Given the description of an element on the screen output the (x, y) to click on. 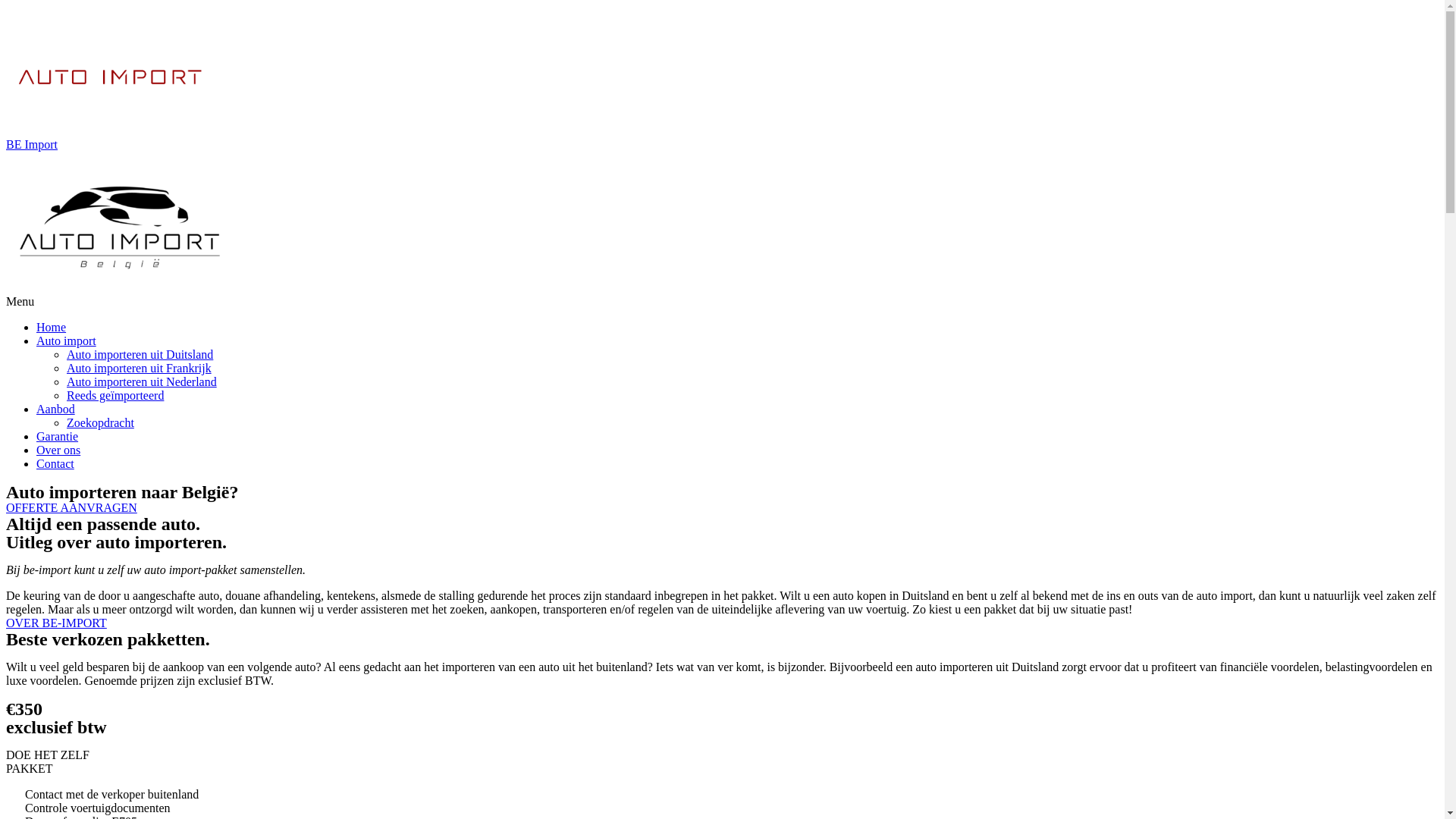
Zoekopdracht Element type: text (100, 422)
Contact Element type: text (55, 463)
Auto importeren uit Nederland Element type: text (141, 381)
Home Element type: text (50, 326)
Auto import Element type: text (66, 340)
OVER BE-IMPORT Element type: text (56, 622)
Over ons Element type: text (58, 449)
Aanbod Element type: text (55, 408)
Auto importeren uit Frankrijk Element type: text (138, 367)
BE Import Element type: text (31, 144)
OFFERTE AANVRAGEN Element type: text (71, 507)
Auto importeren uit Duitsland Element type: text (139, 354)
Garantie Element type: text (57, 435)
